Given the description of an element on the screen output the (x, y) to click on. 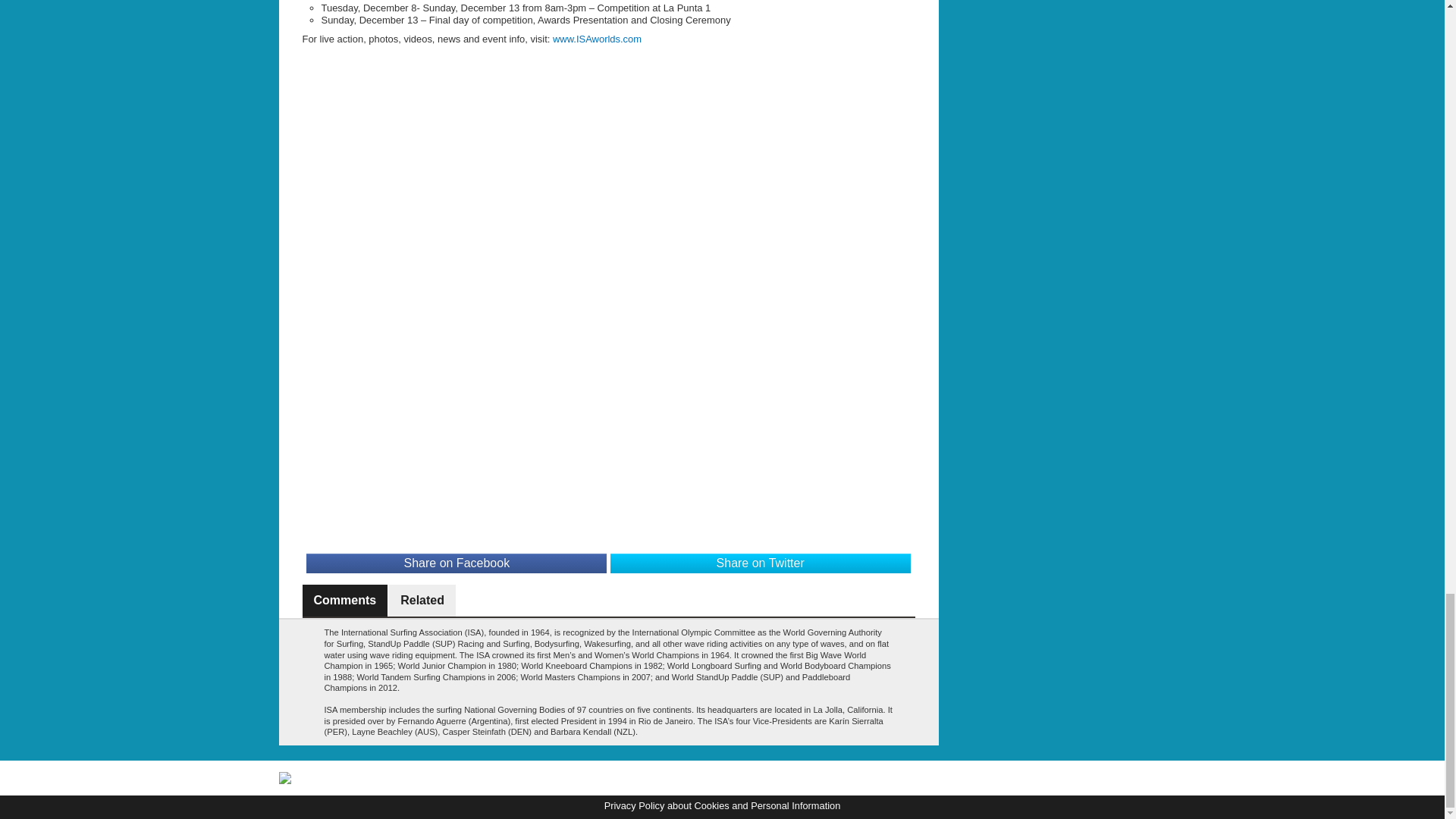
Share on Twitter (760, 563)
Share on Facebook (456, 563)
www.ISAworlds.com (597, 39)
Click to share this post on Twitter (760, 563)
